Given the description of an element on the screen output the (x, y) to click on. 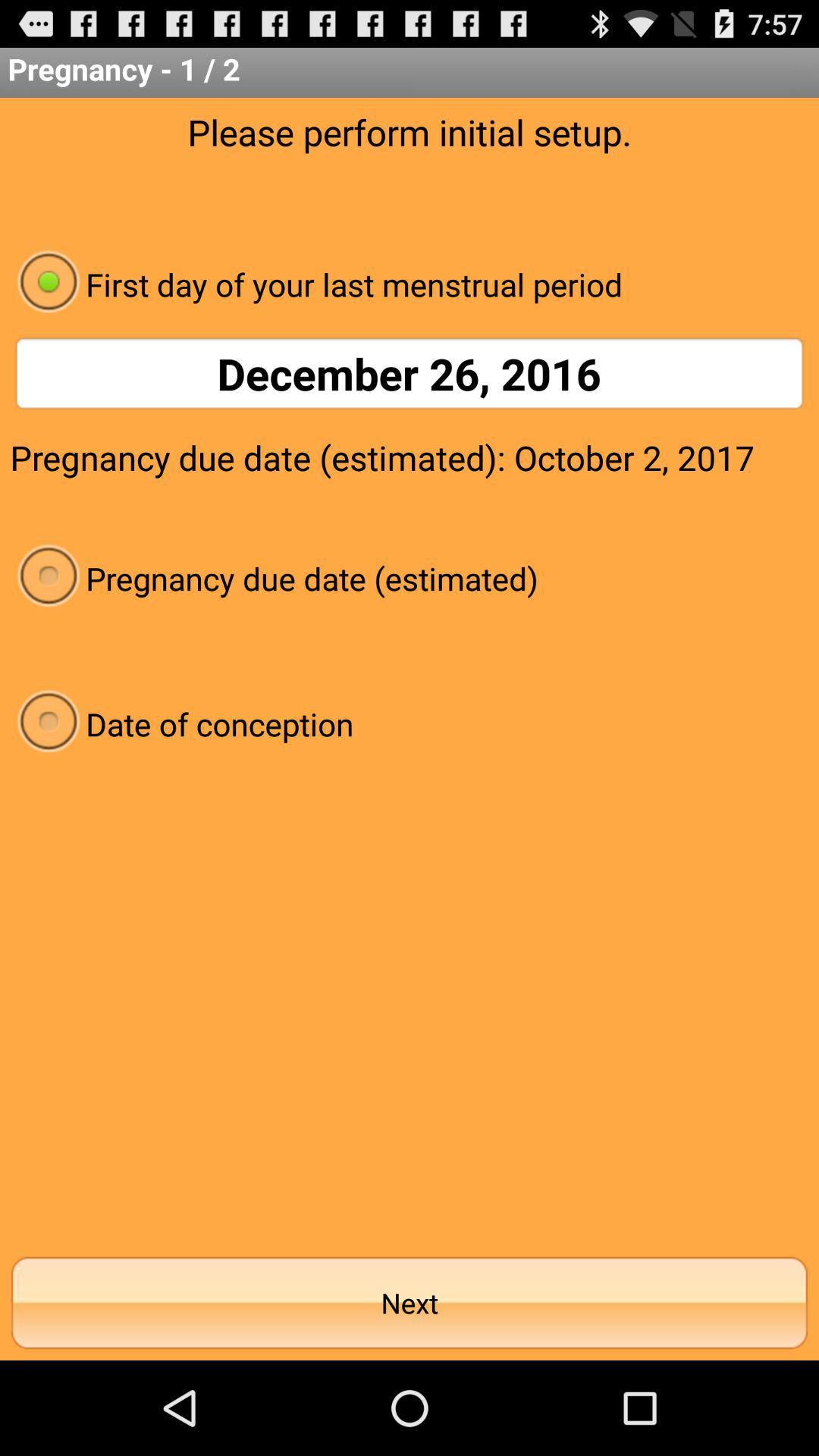
swipe to december 26, 2016 item (409, 373)
